Given the description of an element on the screen output the (x, y) to click on. 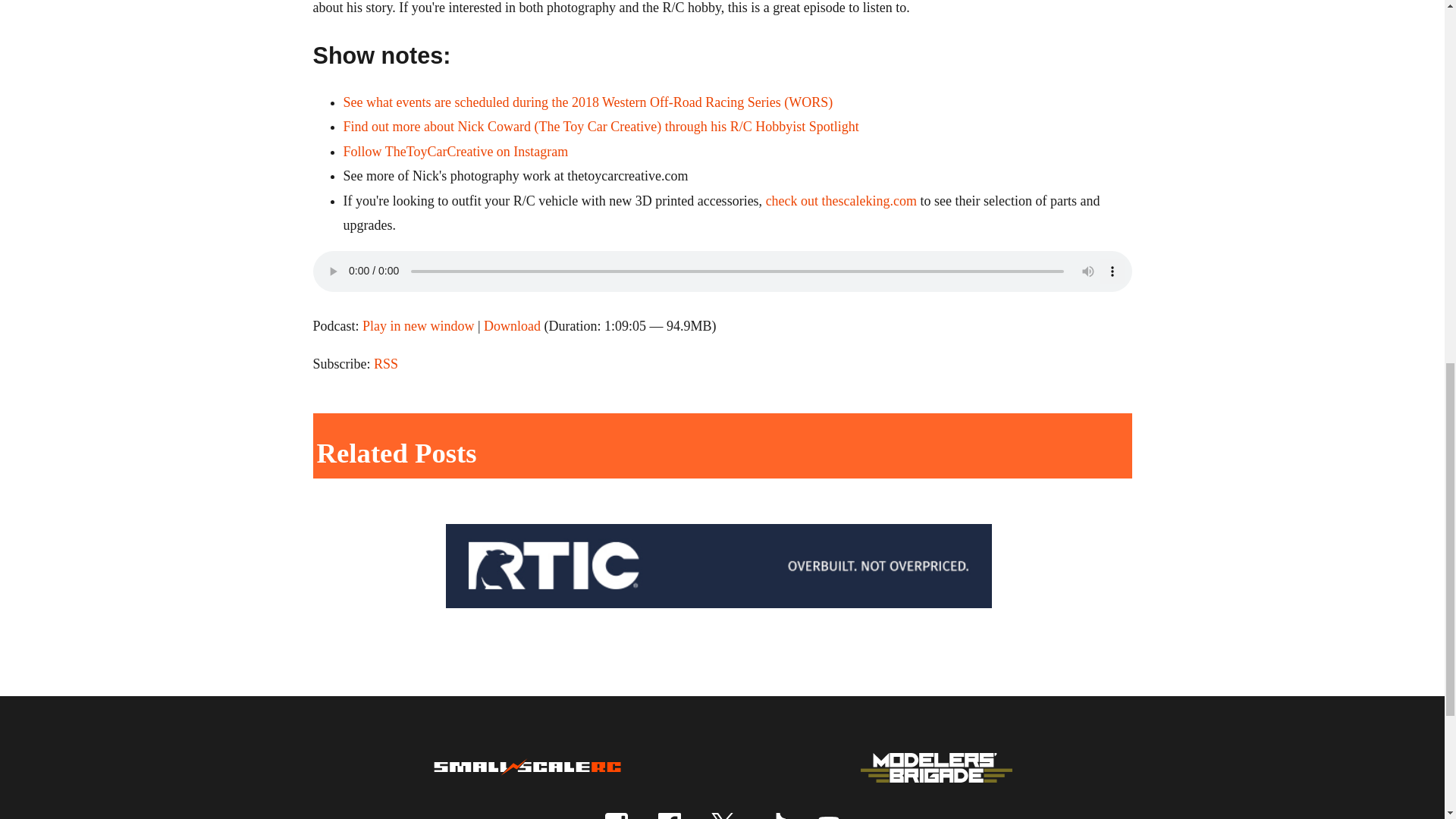
Follow TheToyCarCreative on Instagram (454, 151)
check out thescaleking.com (841, 200)
Play in new window (418, 325)
Subscribe via RSS (385, 363)
Download (511, 325)
Play in new window (418, 325)
RSS (385, 363)
Download (511, 325)
